Given the description of an element on the screen output the (x, y) to click on. 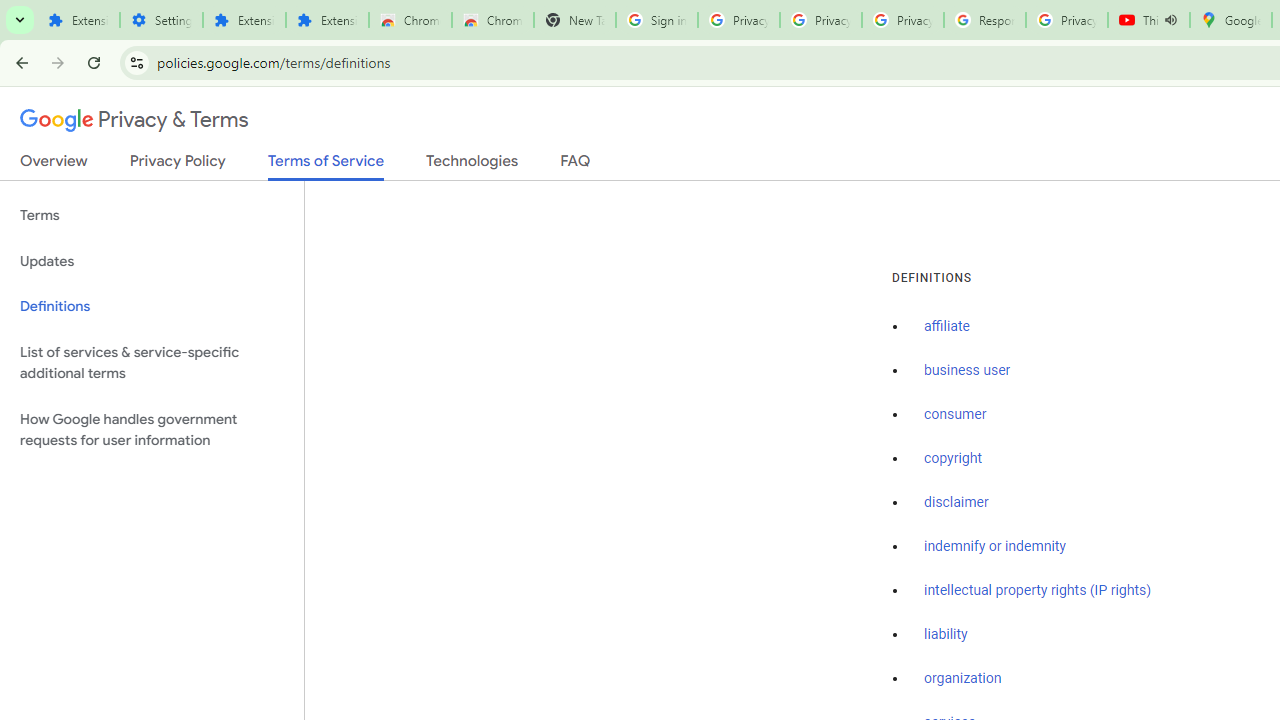
indemnify or indemnity (995, 546)
organization (963, 679)
